Given the description of an element on the screen output the (x, y) to click on. 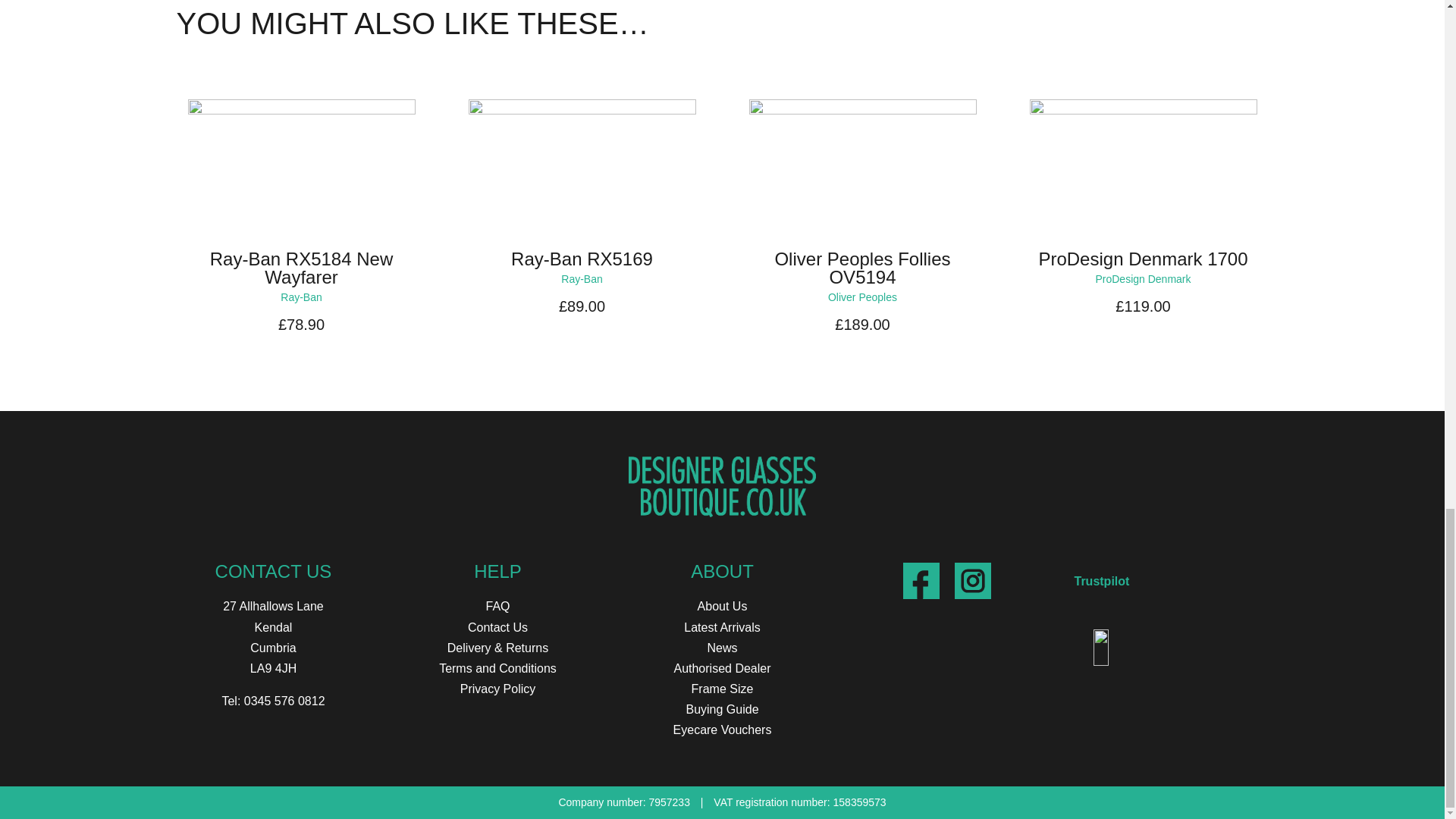
Facebook (920, 580)
Instagram (971, 580)
